Given the description of an element on the screen output the (x, y) to click on. 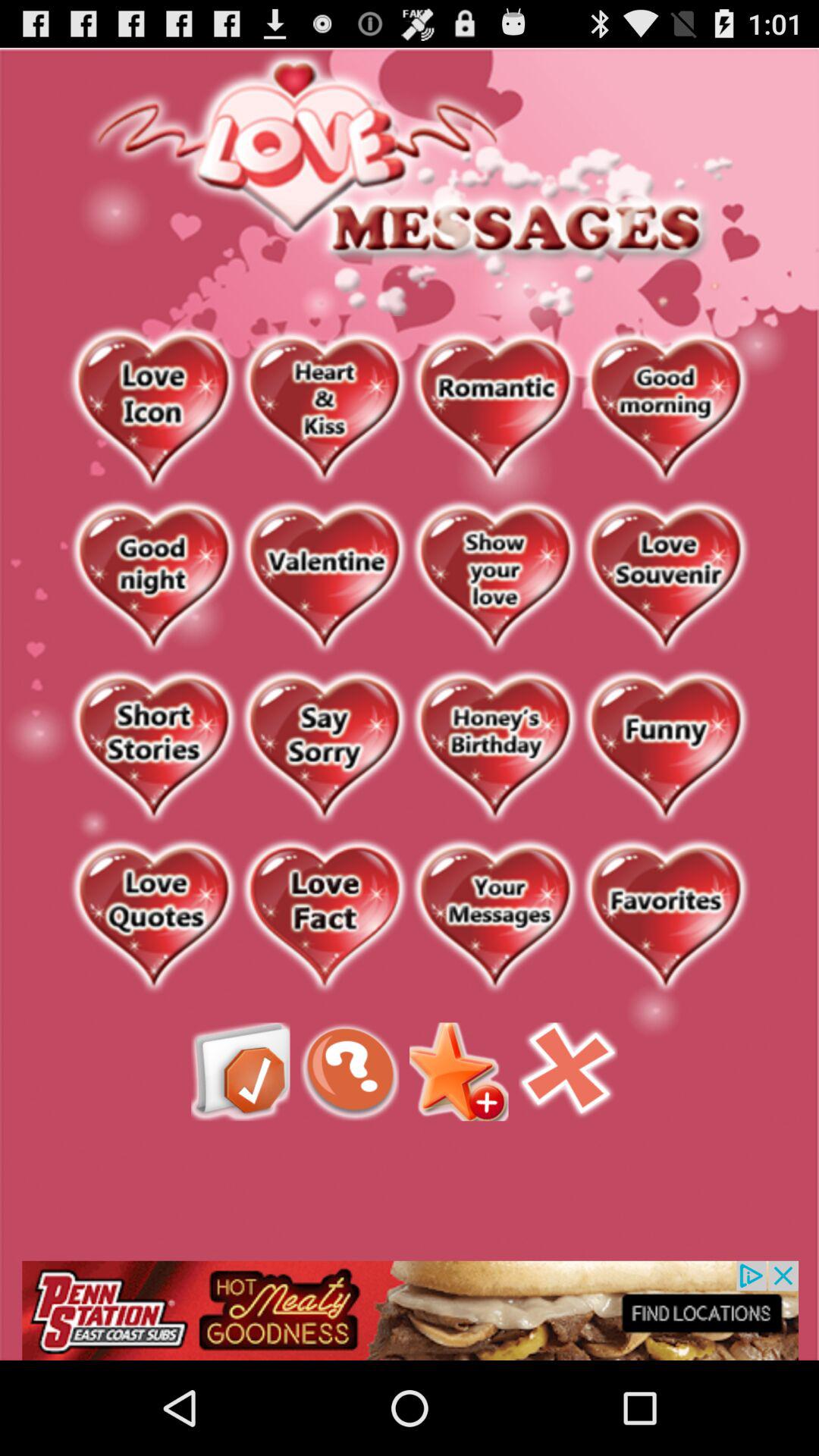
romantic (494, 408)
